Given the description of an element on the screen output the (x, y) to click on. 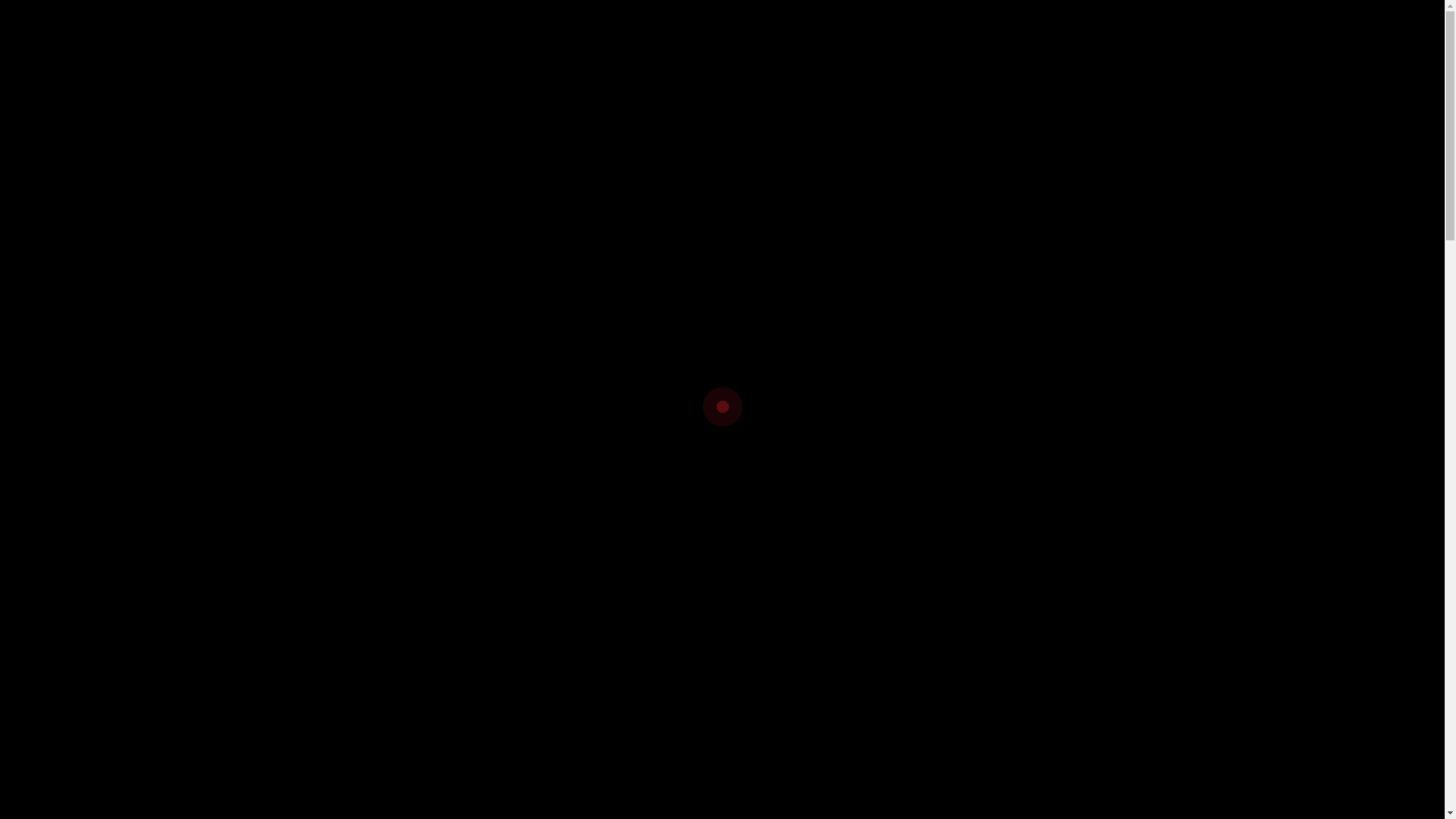
Mulligatawny Soup Element type: text (356, 756)
RESTAURANT MENU Element type: text (838, 177)
Tomato Shorba Element type: text (342, 662)
OUR MENU Element type: text (704, 177)
HOME Element type: text (699, 285)
Sweet Corn Soup Element type: text (802, 756)
CONTACT Element type: text (966, 177)
HOME Element type: text (463, 177)
ABOUT 2GINGERS Element type: text (574, 177)
Rasam Soup Element type: text (785, 662)
